Given the description of an element on the screen output the (x, y) to click on. 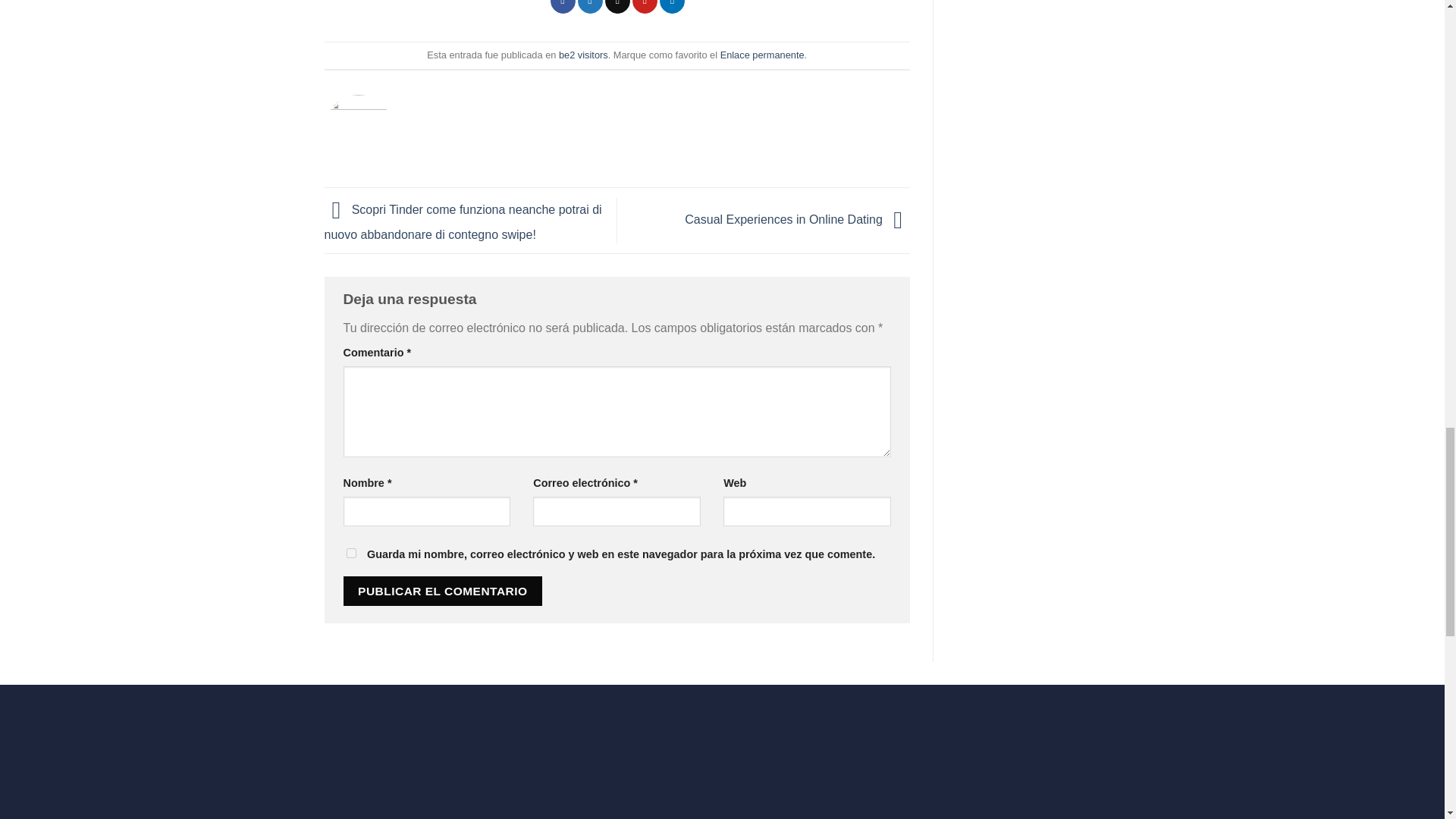
Pinear en Pinterest (644, 6)
yes (350, 552)
Enlace permanente (762, 54)
Casual Experiences in Online Dating (797, 219)
Share on LinkedIn (671, 6)
Compartir en Twitter (590, 6)
Publicar el comentario (441, 591)
Compartir en Facebook (562, 6)
be2 visitors (583, 54)
Publicar el comentario (441, 591)
